Given the description of an element on the screen output the (x, y) to click on. 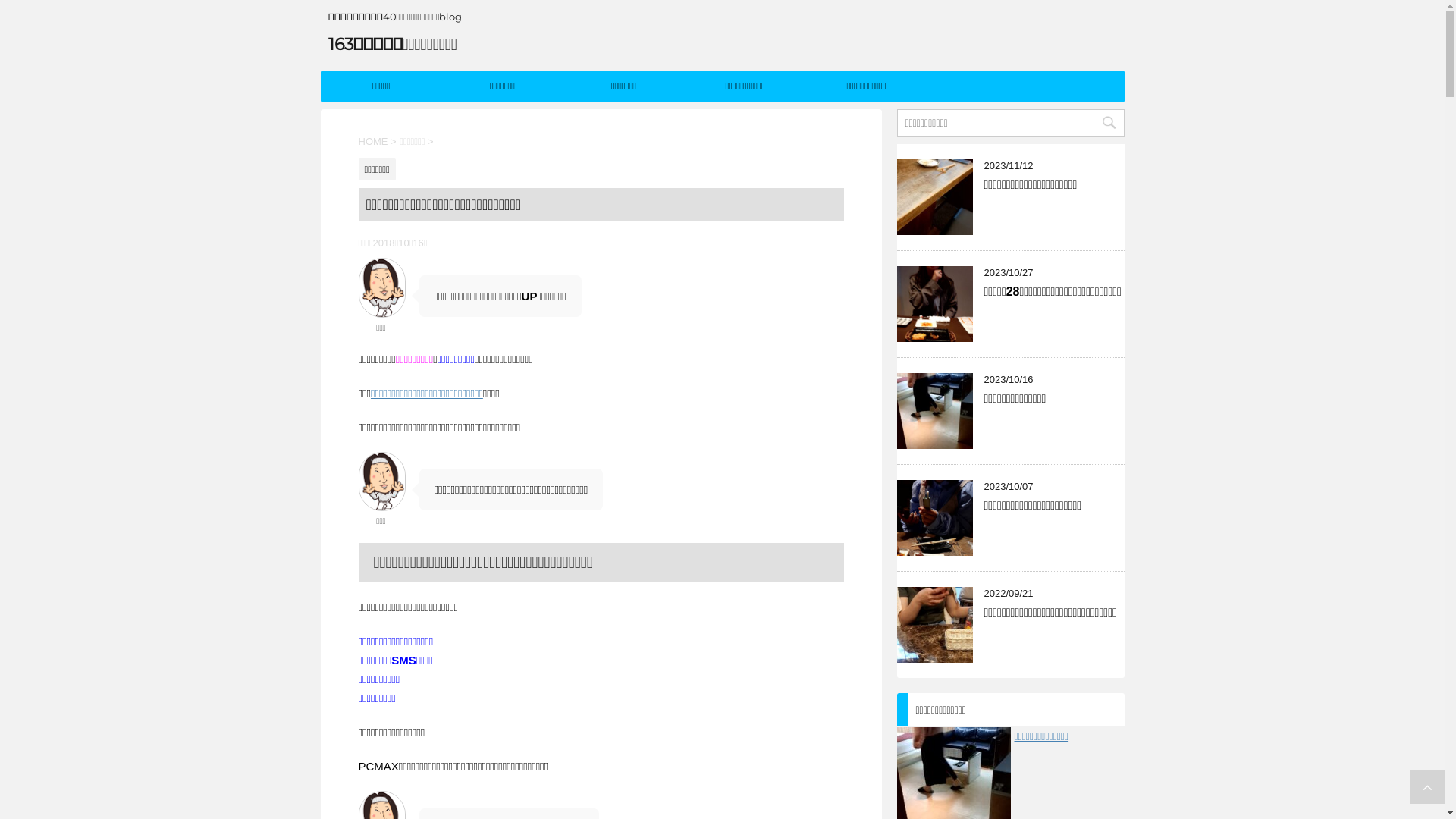
HOME Element type: text (372, 141)
